Given the description of an element on the screen output the (x, y) to click on. 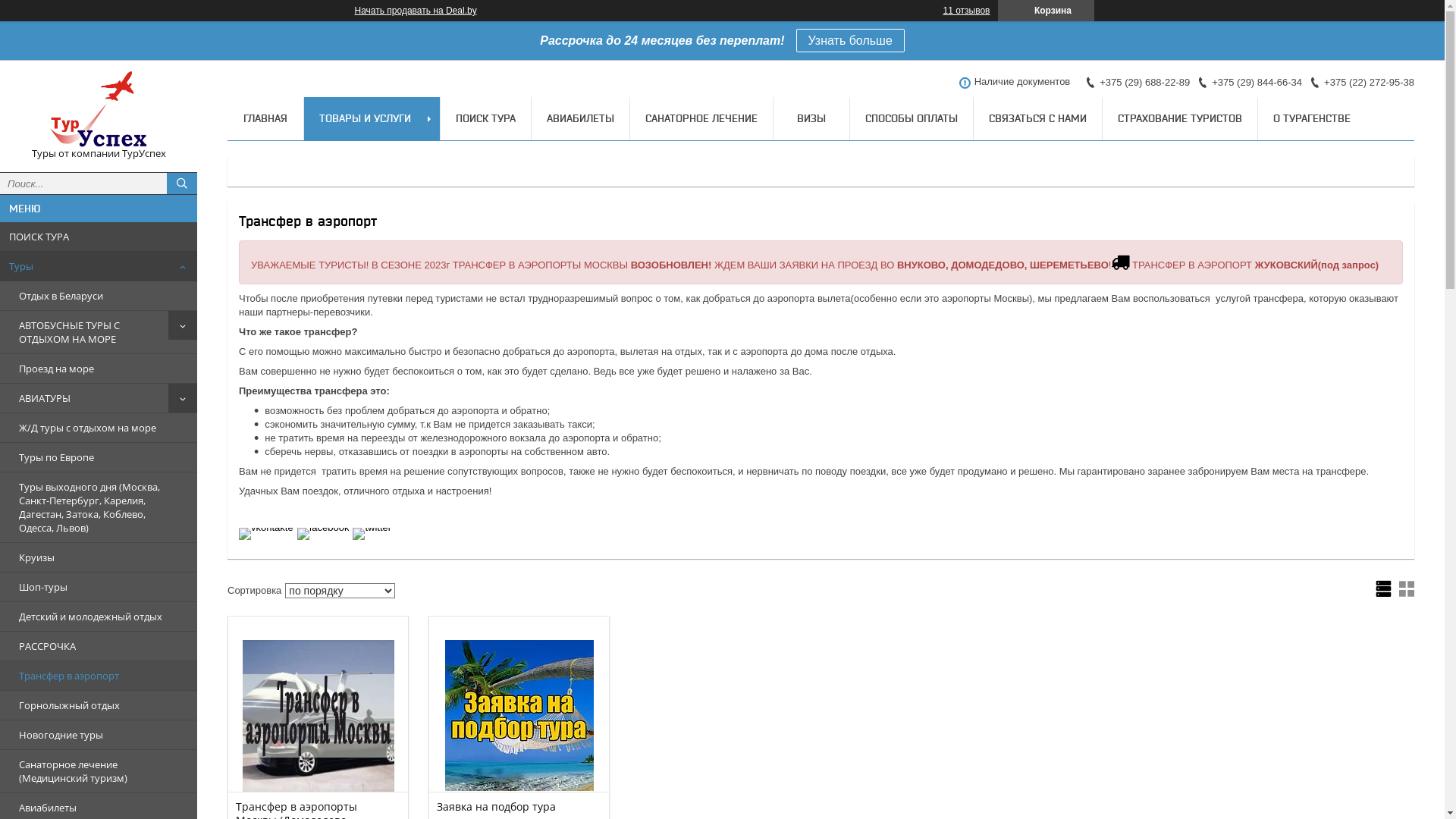
twitter Element type: hover (371, 527)
facebook Element type: hover (323, 527)
